Given the description of an element on the screen output the (x, y) to click on. 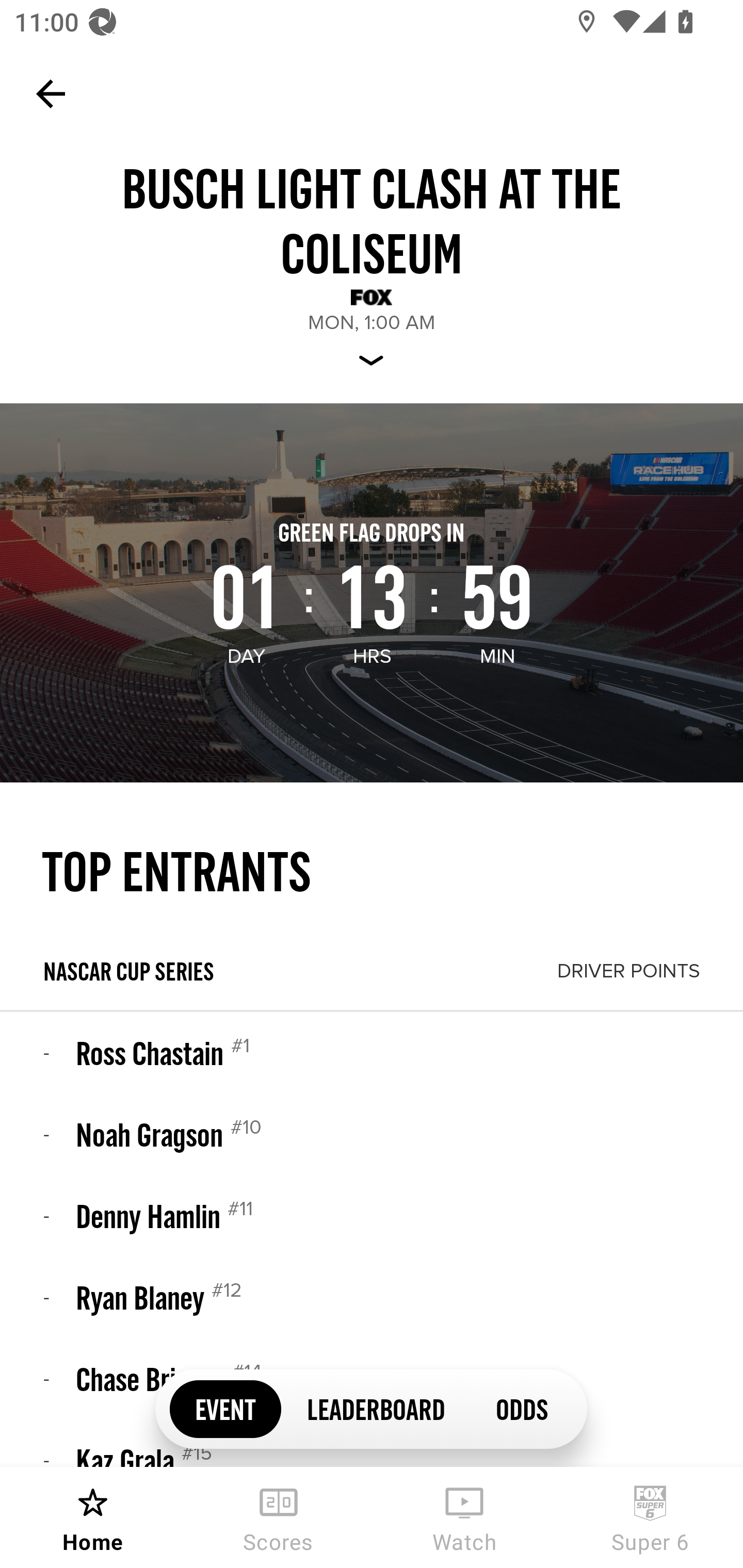
Navigate up (50, 93)
- Ross Chastain #1 (371, 1052)
- Noah Gragson #10 (371, 1134)
- Denny Hamlin #11 (371, 1215)
- Ryan Blaney #12 (371, 1296)
LEADERBOARD (375, 1408)
ODDS (521, 1408)
Scores (278, 1517)
Watch (464, 1517)
Super 6 (650, 1517)
